Given the description of an element on the screen output the (x, y) to click on. 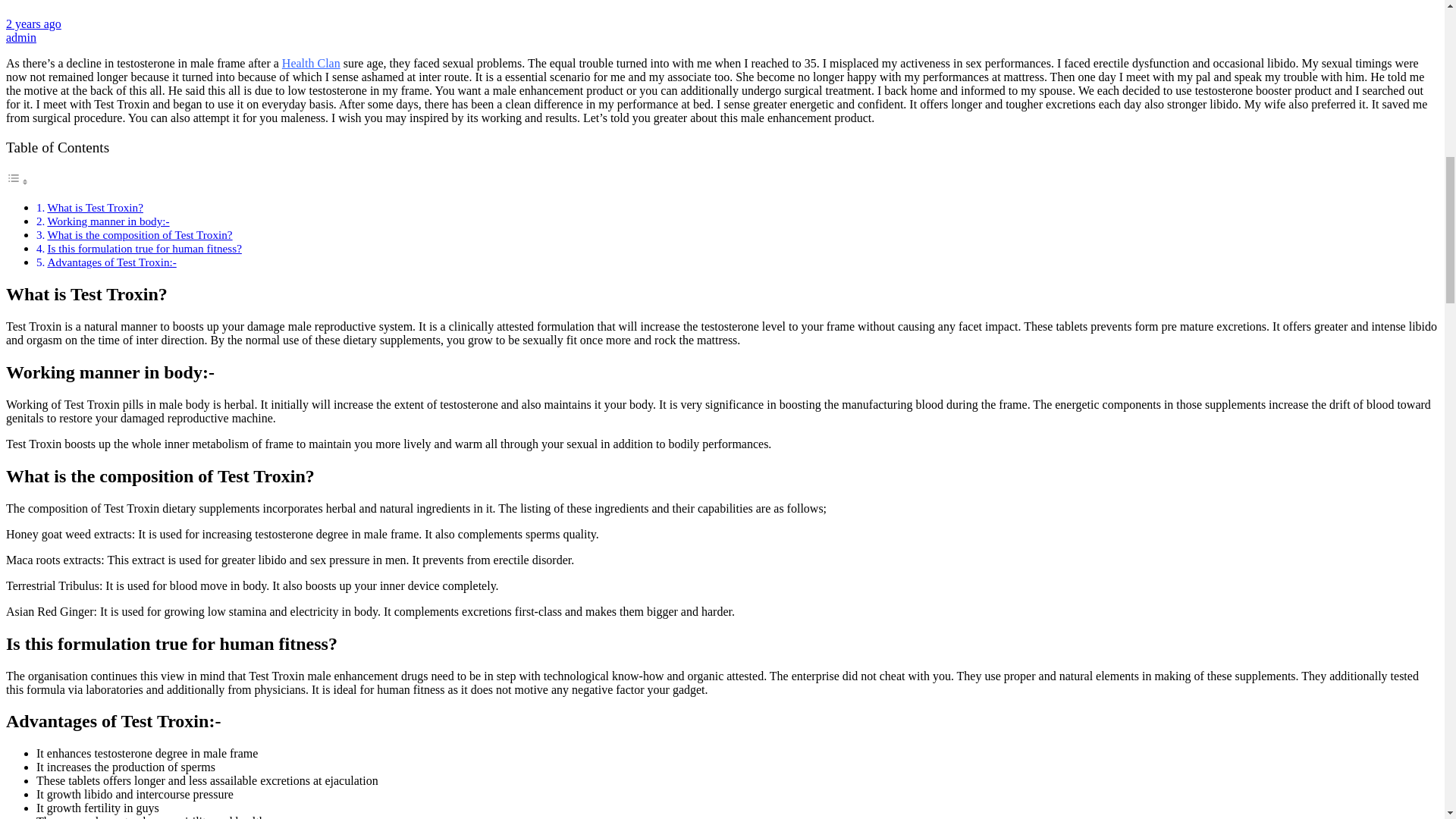
Working manner in body:- (107, 220)
Is this formulation true for human fitness? (143, 247)
What is Test Troxin? (94, 206)
Advantages of Test Troxin:- (111, 261)
What is the composition of Test Troxin? (138, 234)
